Given the description of an element on the screen output the (x, y) to click on. 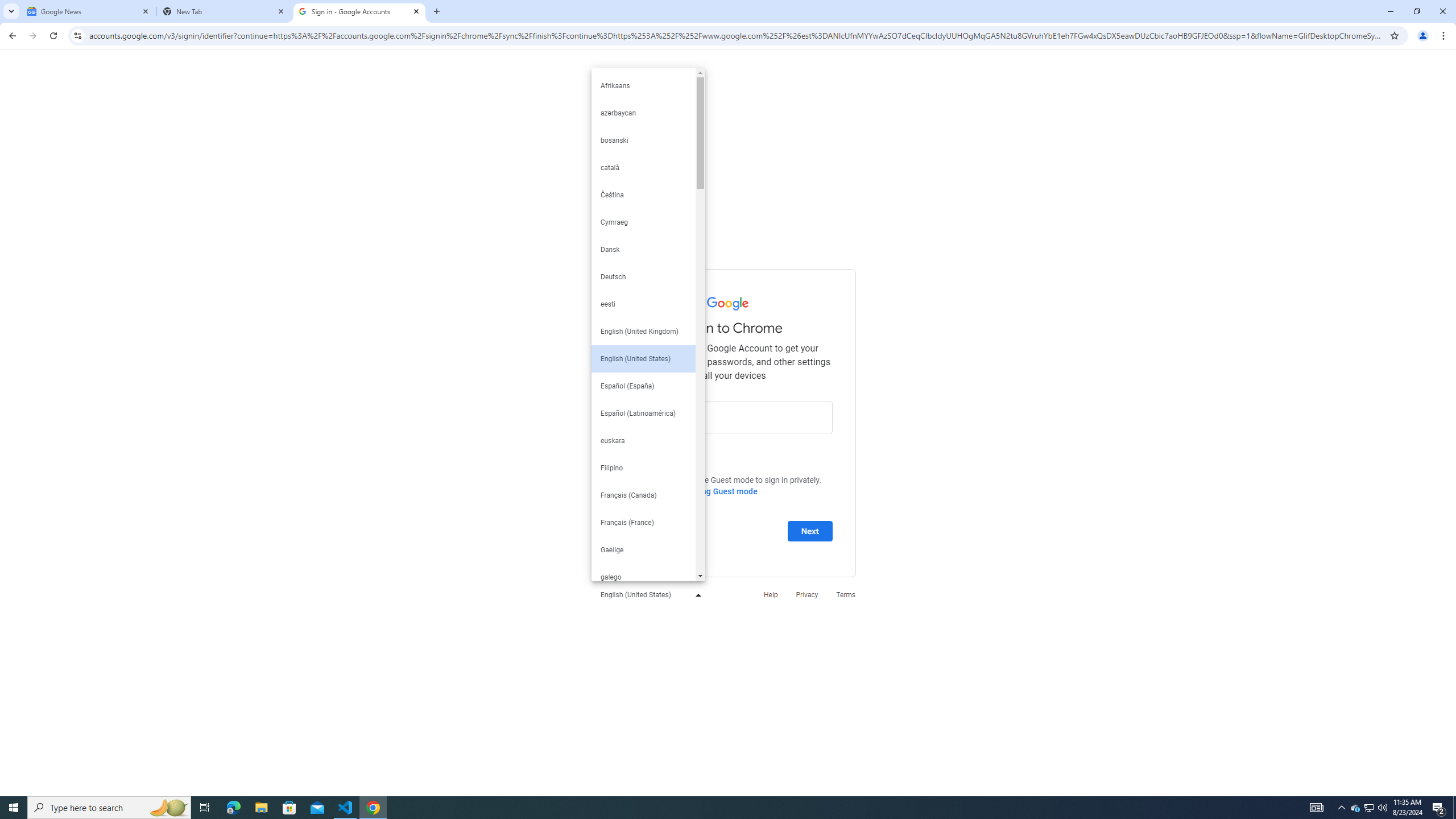
Google News (88, 11)
Sign in - Google Accounts (359, 11)
Email or phone (727, 416)
English (United States) (647, 594)
Dansk (643, 249)
Afrikaans (643, 85)
Deutsch (643, 276)
